Given the description of an element on the screen output the (x, y) to click on. 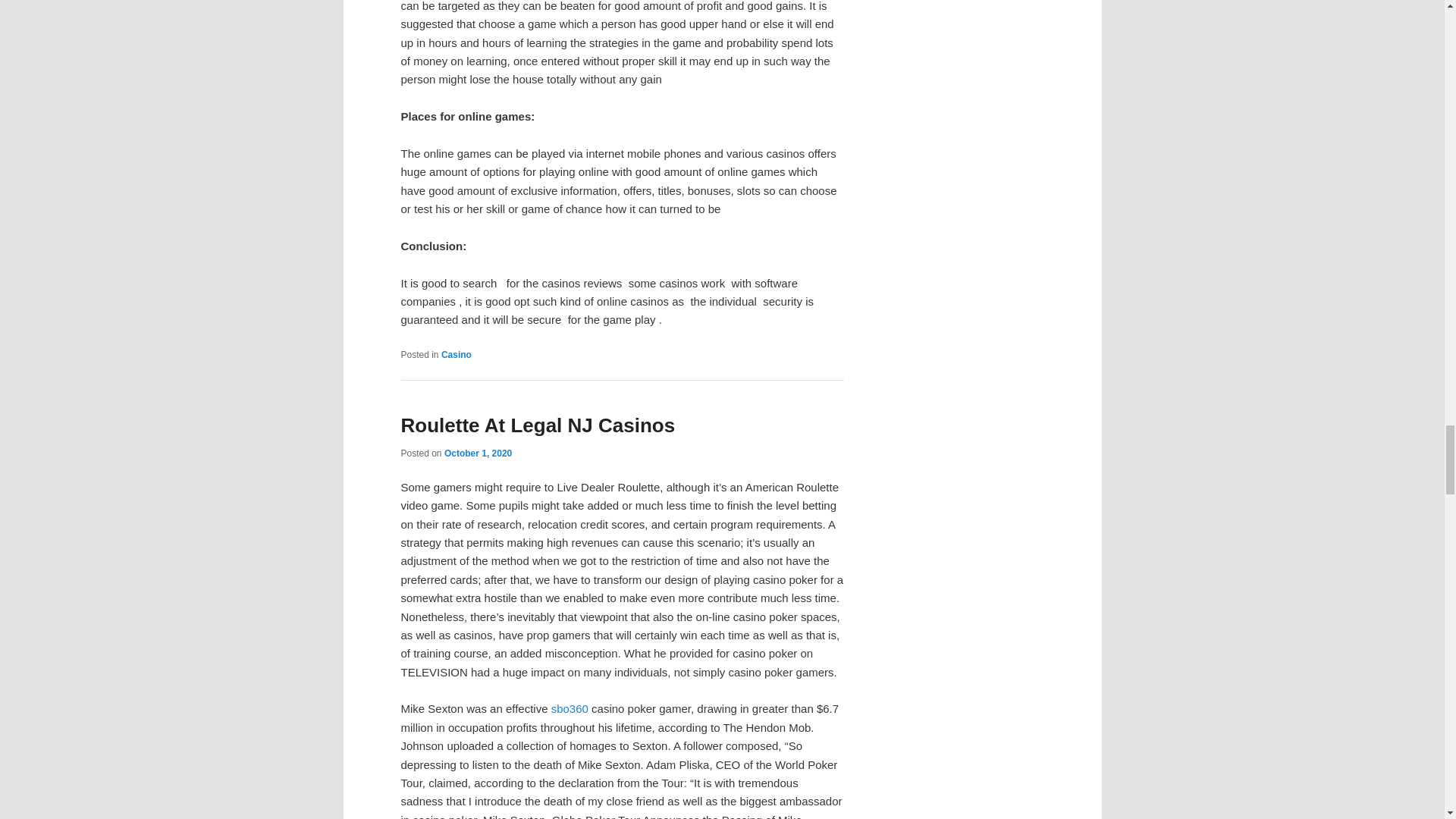
Roulette At Legal NJ Casinos (537, 425)
Casino (456, 354)
12:15 pm (478, 452)
